Given the description of an element on the screen output the (x, y) to click on. 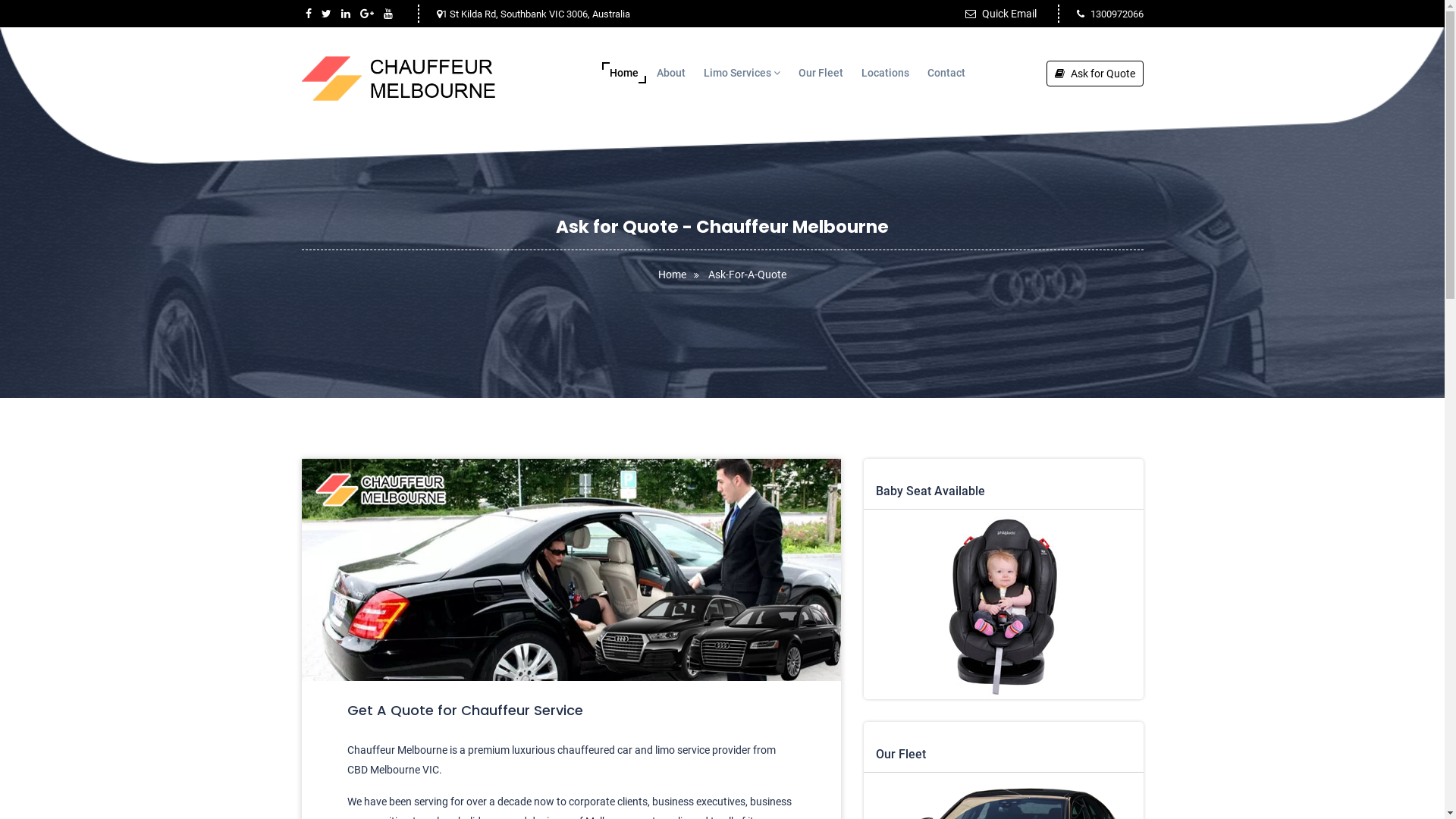
Quick Email Element type: text (999, 13)
Ask for Quote Element type: text (1094, 73)
Home Element type: text (681, 274)
About Element type: text (671, 72)
Limo Services Element type: text (741, 72)
Contact Element type: text (945, 72)
Our Fleet Element type: text (820, 72)
Home Element type: text (624, 72)
Locations Element type: text (884, 72)
